Given the description of an element on the screen output the (x, y) to click on. 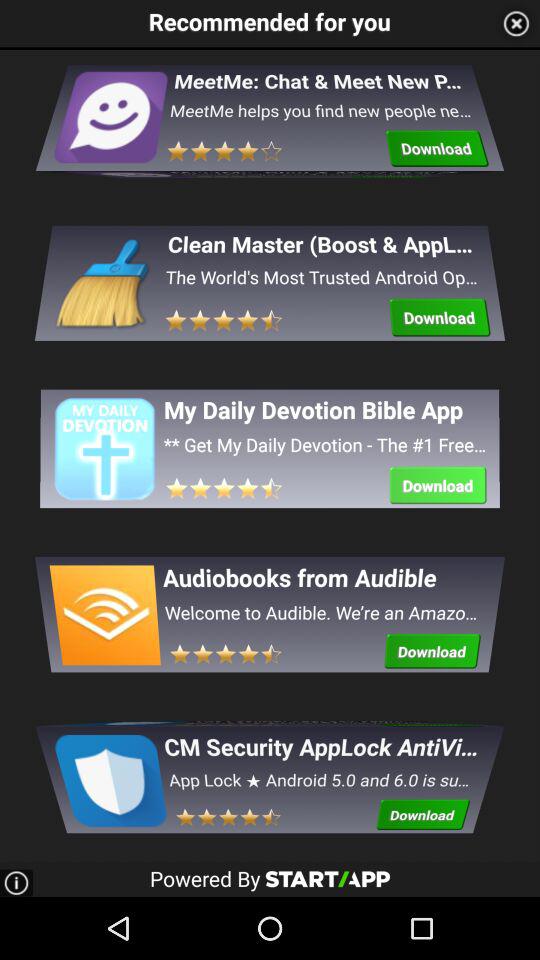
click on the startapp (327, 878)
click on the icon which is at the bottom of the page (109, 768)
